Given the description of an element on the screen output the (x, y) to click on. 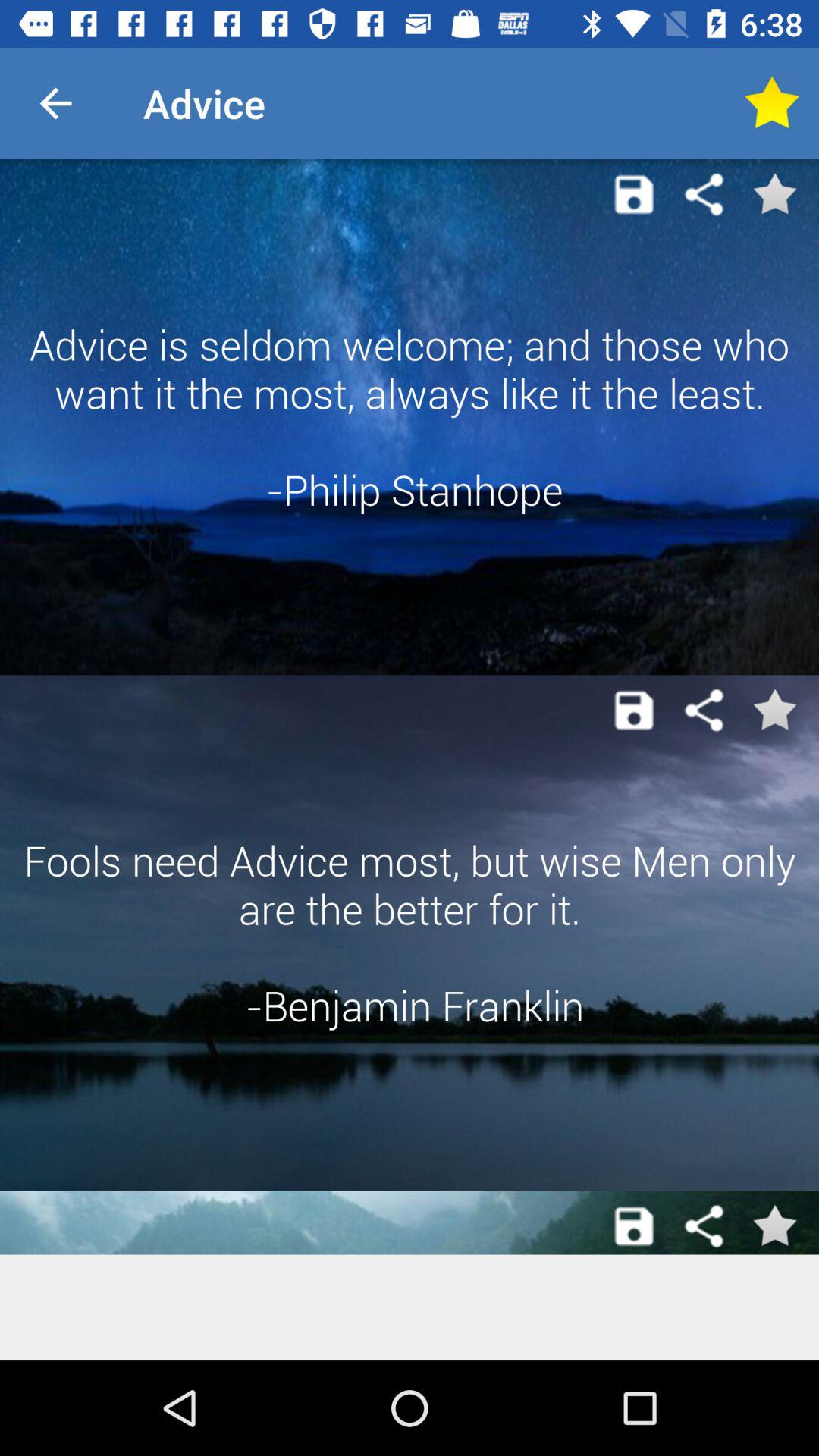
open the advice is seldom app (409, 416)
